Given the description of an element on the screen output the (x, y) to click on. 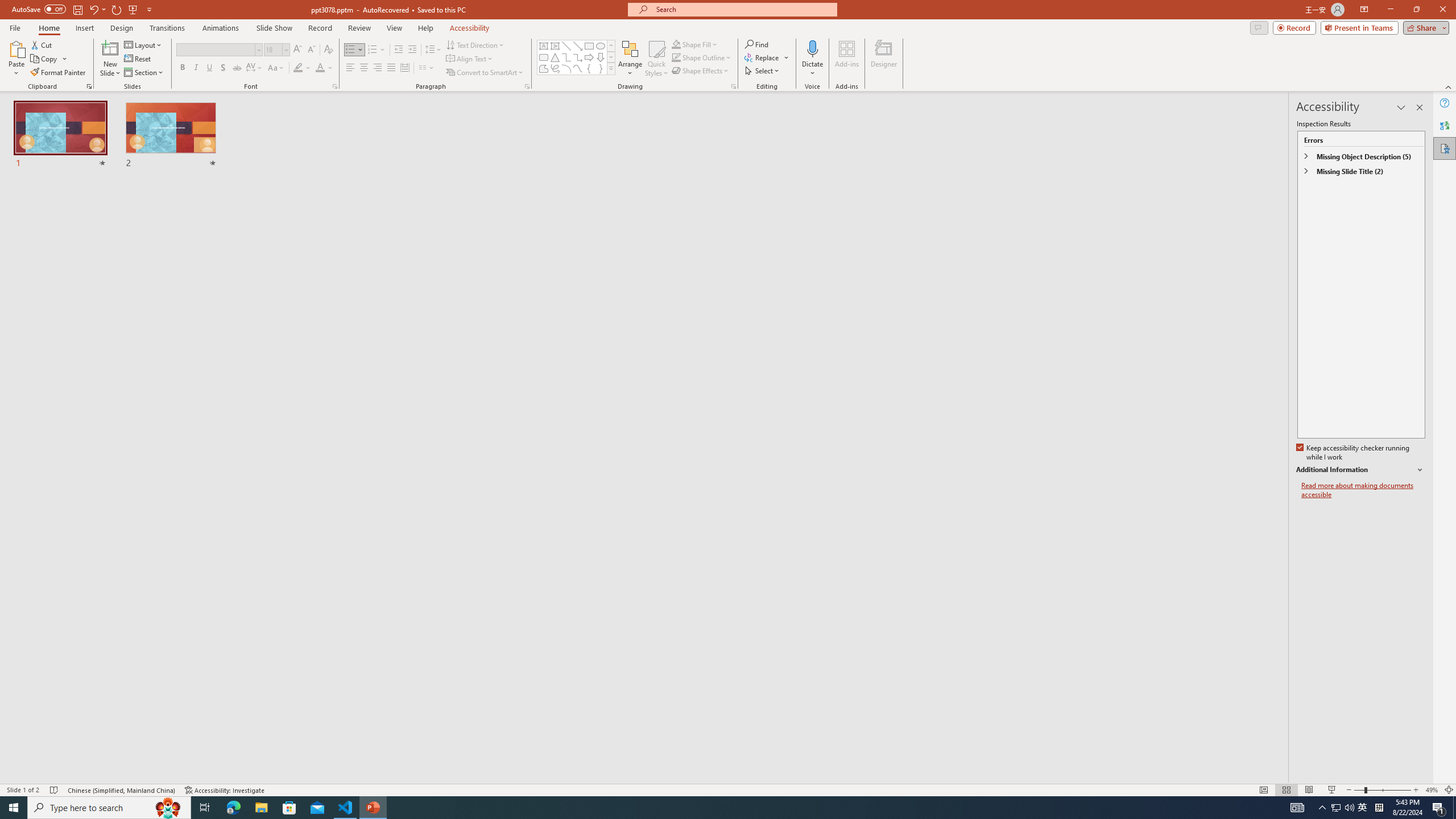
Shape Effects (700, 69)
Additional Information (1360, 469)
Shape Outline Green, Accent 1 (675, 56)
